Given the description of an element on the screen output the (x, y) to click on. 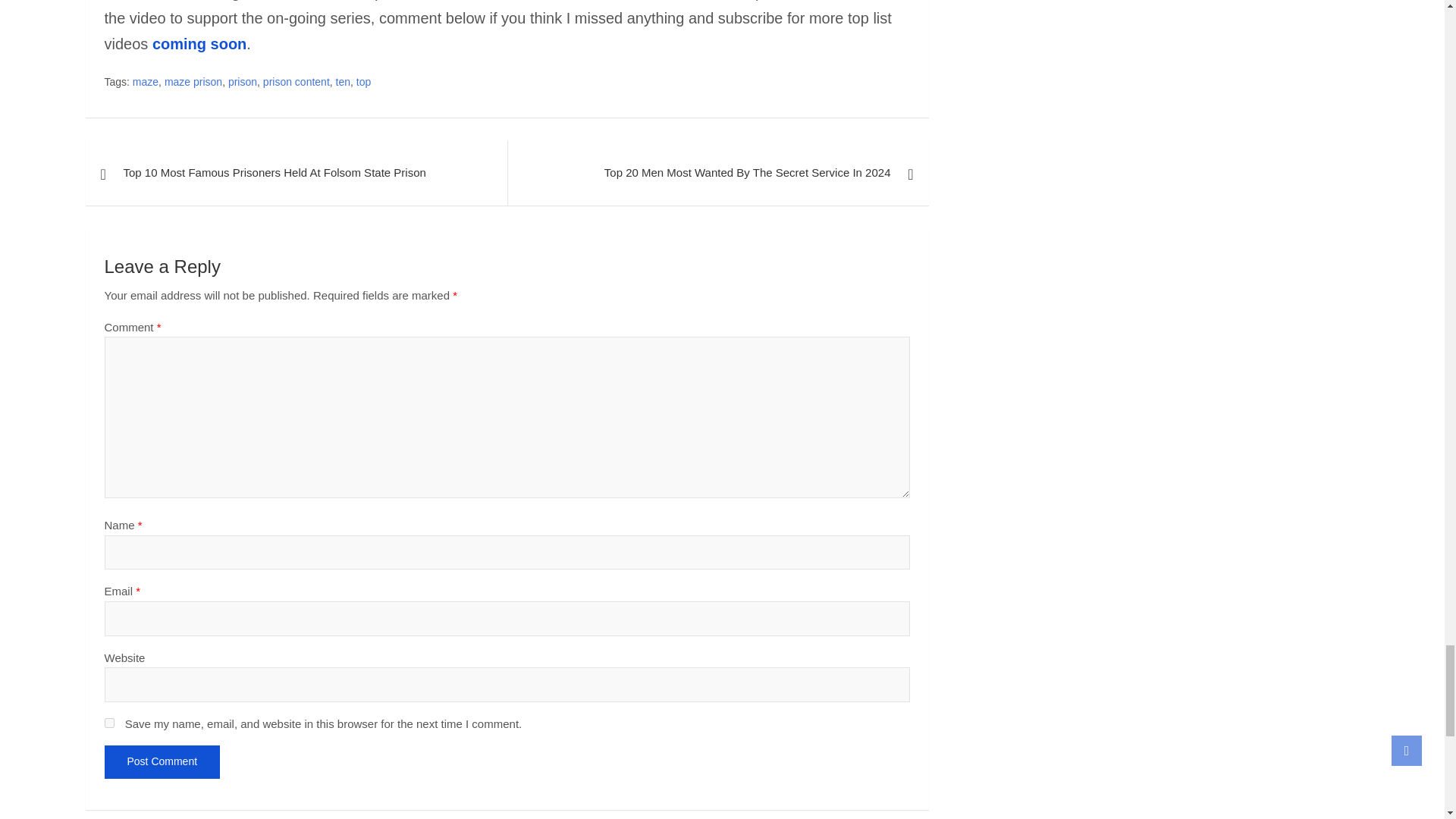
Post Comment (162, 761)
yes (109, 723)
